Given the description of an element on the screen output the (x, y) to click on. 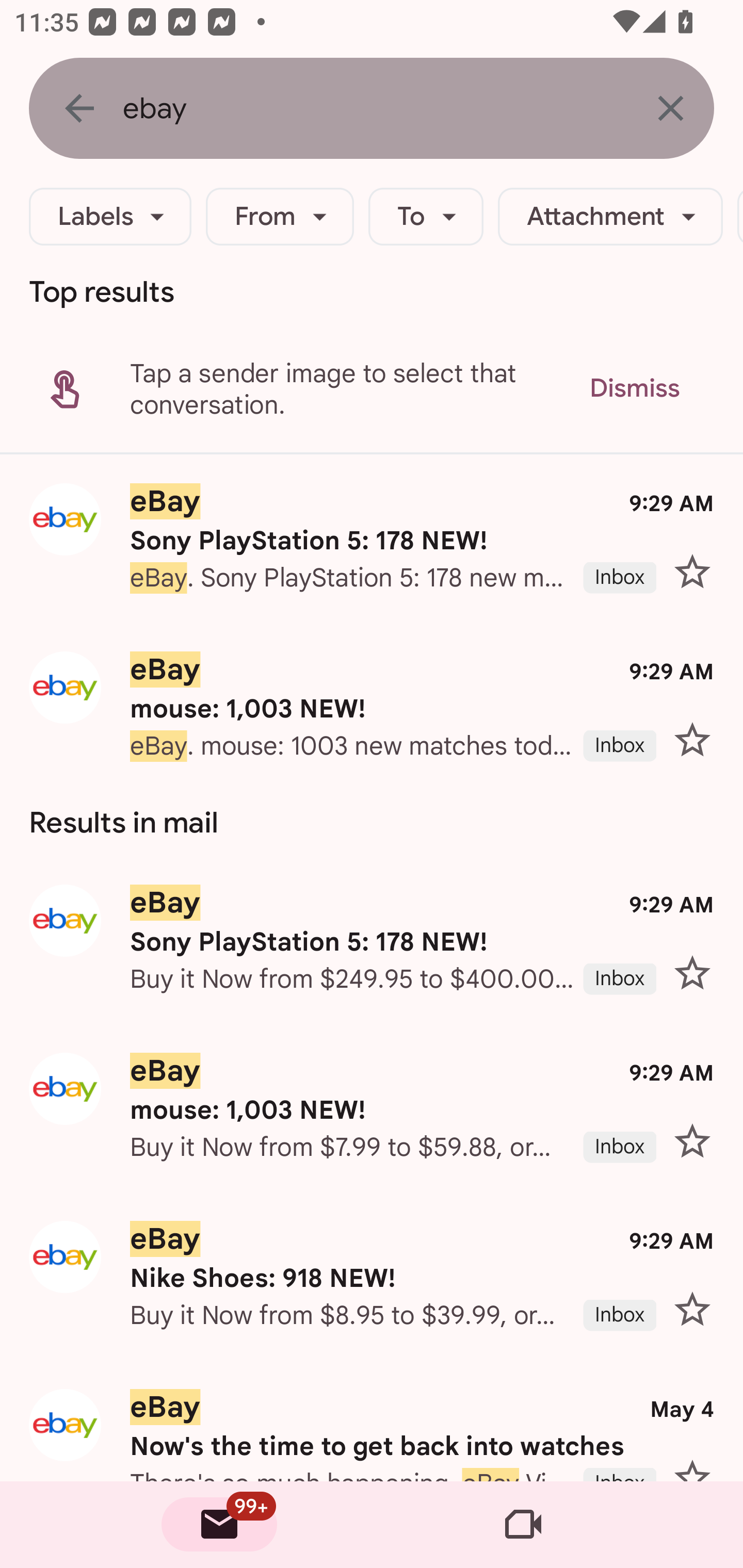
ebay Navigate up ebay Clear search text (371, 108)
Navigate up (79, 108)
Clear search text (670, 108)
Labels (109, 217)
From (279, 217)
To (425, 217)
Attachment (609, 217)
Dismiss Dismiss tip (634, 387)
Meet (523, 1524)
